Given the description of an element on the screen output the (x, y) to click on. 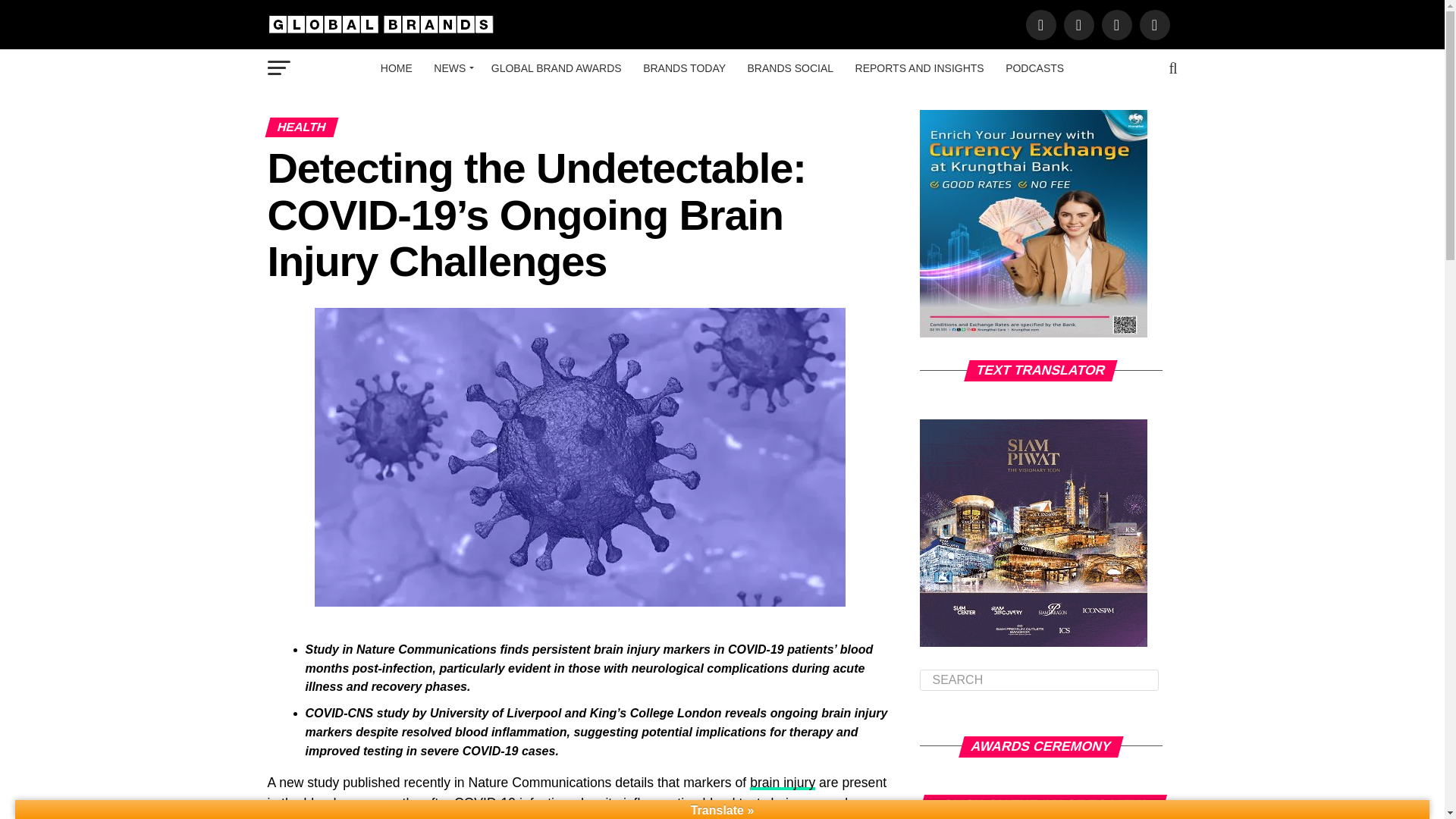
Search (1038, 680)
HOME (396, 67)
NEWS (452, 67)
